Given the description of an element on the screen output the (x, y) to click on. 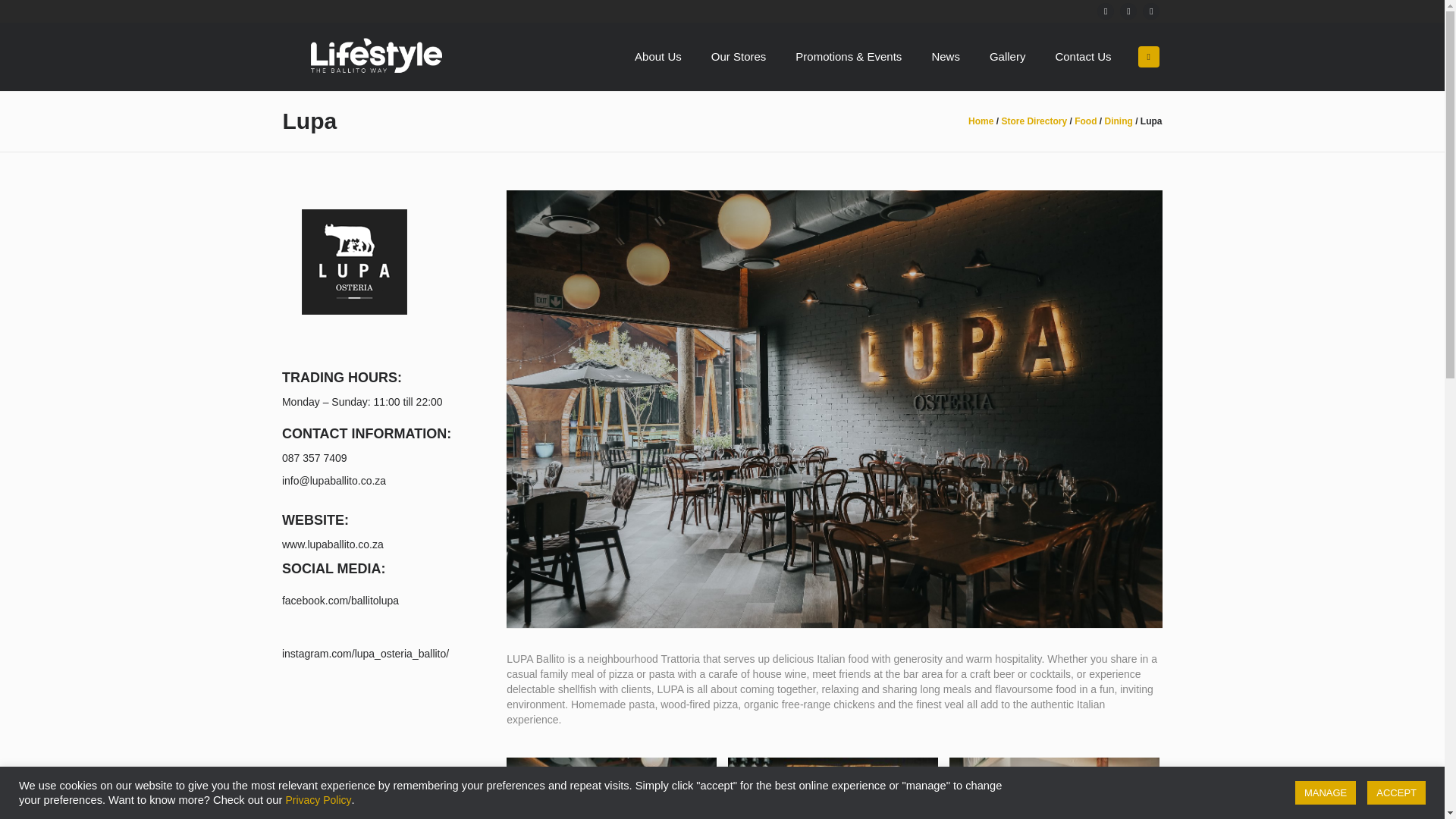
Store Directory (1034, 121)
Instagram (1128, 11)
www.lupaballito.co.za (333, 544)
Dining (1117, 121)
Our Stores (738, 56)
Home (980, 121)
News (945, 56)
Contact Us (1082, 56)
About Us (658, 56)
Food (1085, 121)
Gallery (1007, 56)
YouTube (1150, 11)
Facebook (1105, 11)
